Given the description of an element on the screen output the (x, y) to click on. 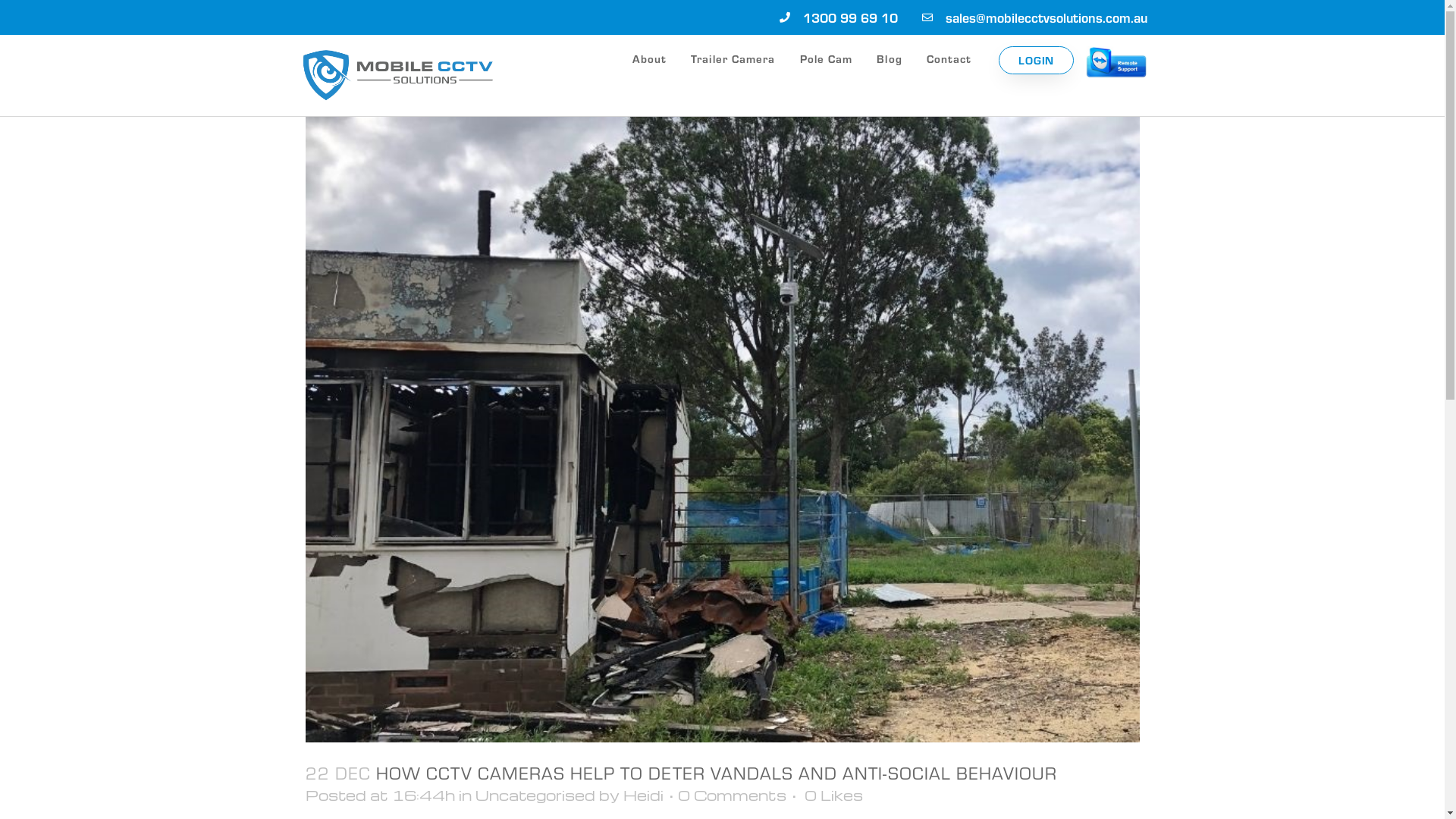
0 Likes Element type: text (832, 795)
1300 99 69 10 Element type: text (836, 17)
Contact Element type: text (949, 58)
Heidi Element type: text (643, 794)
sales@mobilecctvsolutions.com.au Element type: text (1033, 17)
Trailer Camera Element type: text (732, 58)
About Element type: text (649, 58)
0 Comments Element type: text (731, 794)
LOGIN Element type: text (1035, 60)
Pole Cam Element type: text (826, 58)
Blog Element type: text (888, 58)
Uncategorised Element type: text (534, 794)
